Given the description of an element on the screen output the (x, y) to click on. 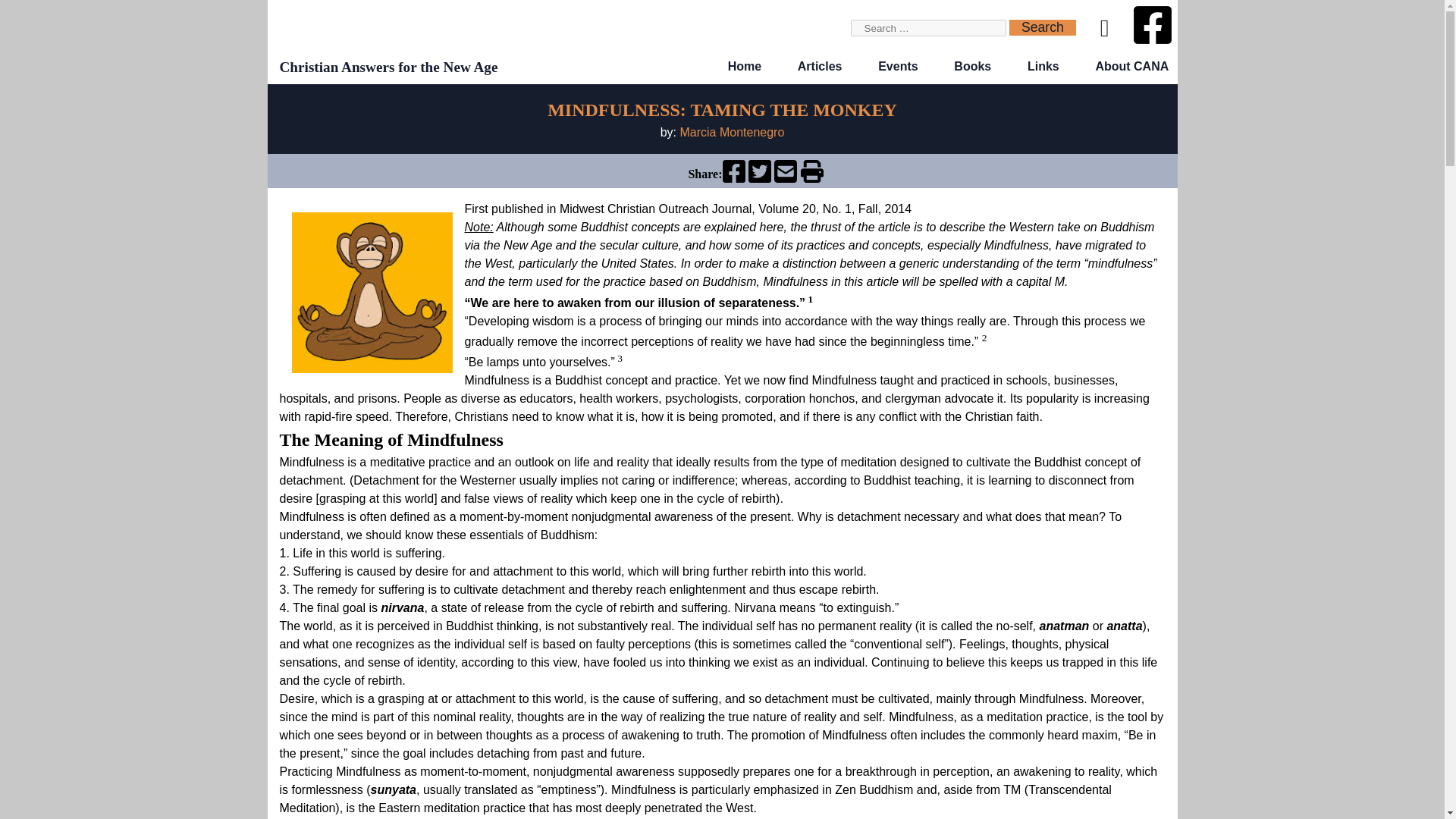
Christian Answers for the New Age (388, 66)
Home (744, 65)
Share by Email (785, 178)
Events (897, 65)
Marcia Montenegro (731, 132)
Search (1042, 27)
Articles (820, 65)
Search (1042, 27)
Books (972, 65)
About CANA (1131, 65)
share to facebook (733, 178)
Search (1042, 27)
Links (1043, 65)
share to twitter (759, 178)
